Given the description of an element on the screen output the (x, y) to click on. 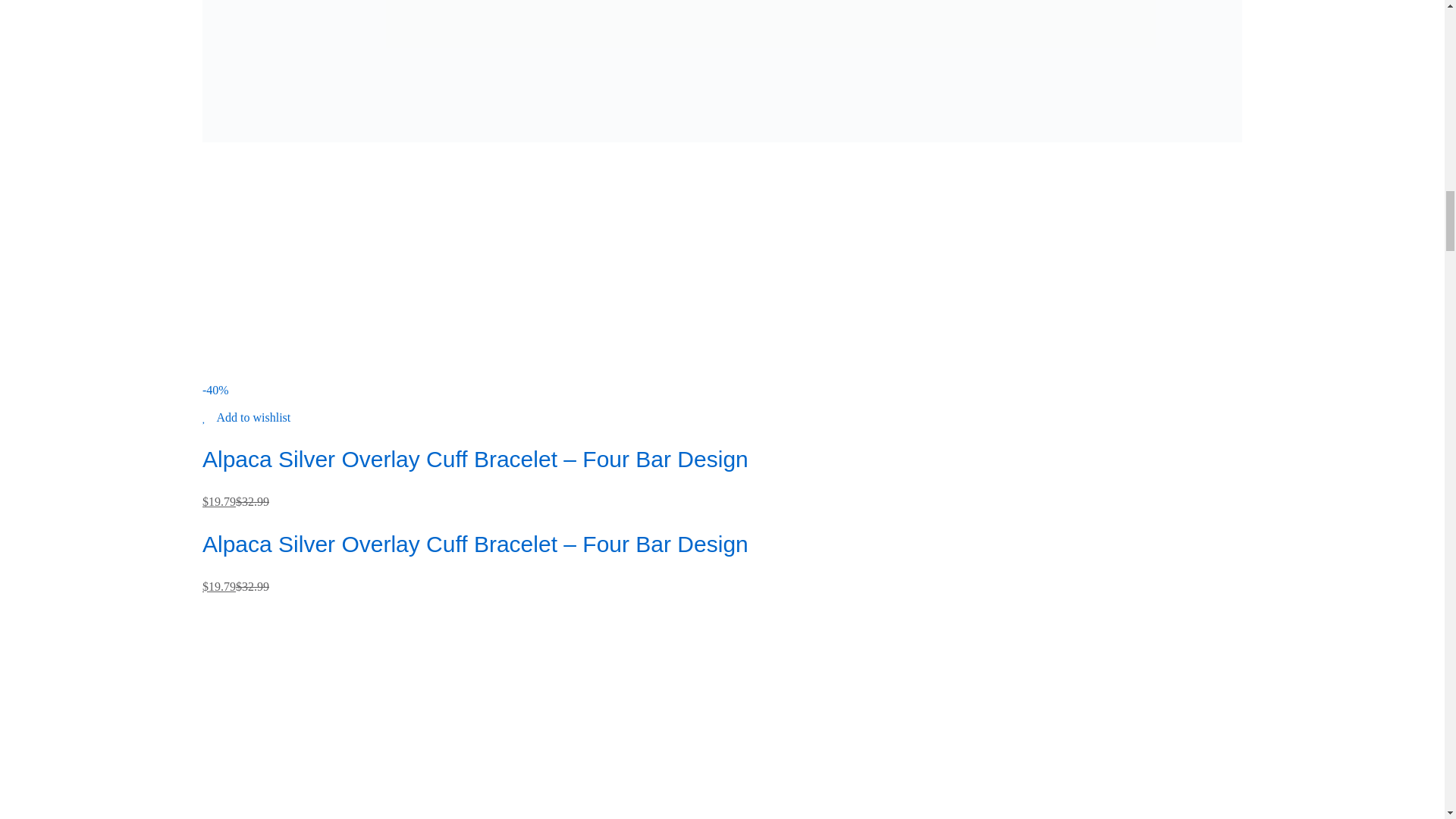
Add to wishlist (245, 417)
